Given the description of an element on the screen output the (x, y) to click on. 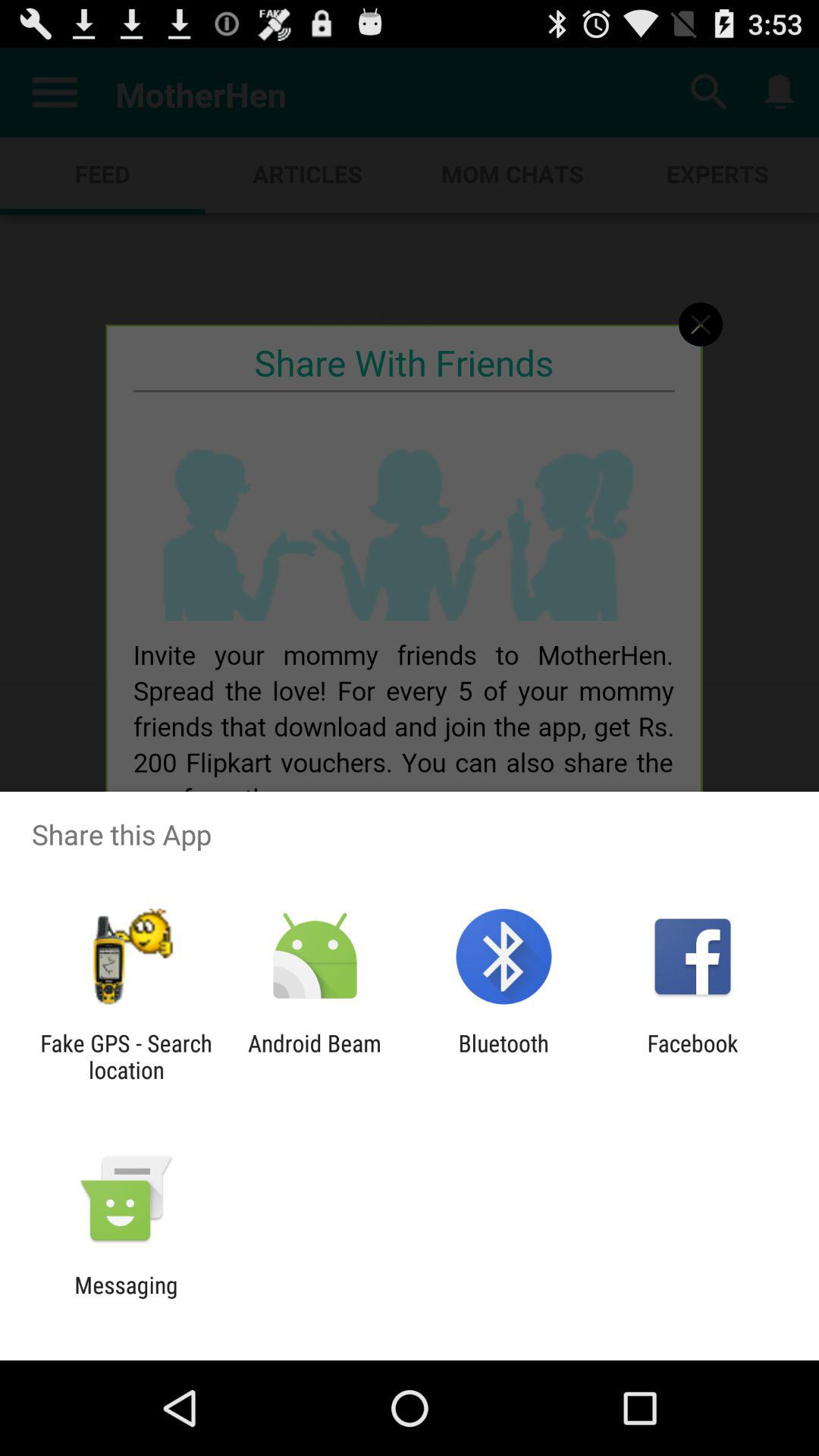
tap facebook item (692, 1056)
